Given the description of an element on the screen output the (x, y) to click on. 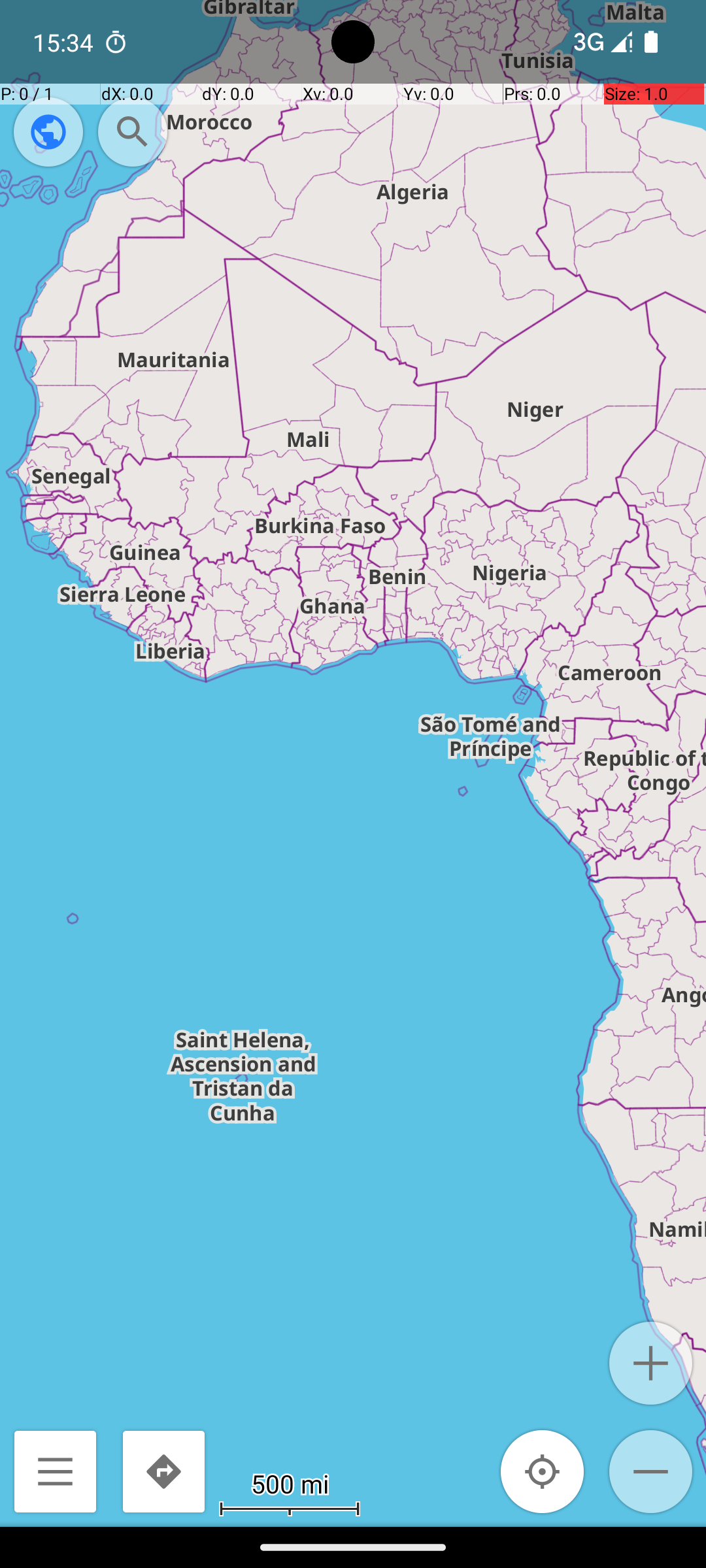
500 mi Element type: android.widget.TextView (289, 1483)
